Given the description of an element on the screen output the (x, y) to click on. 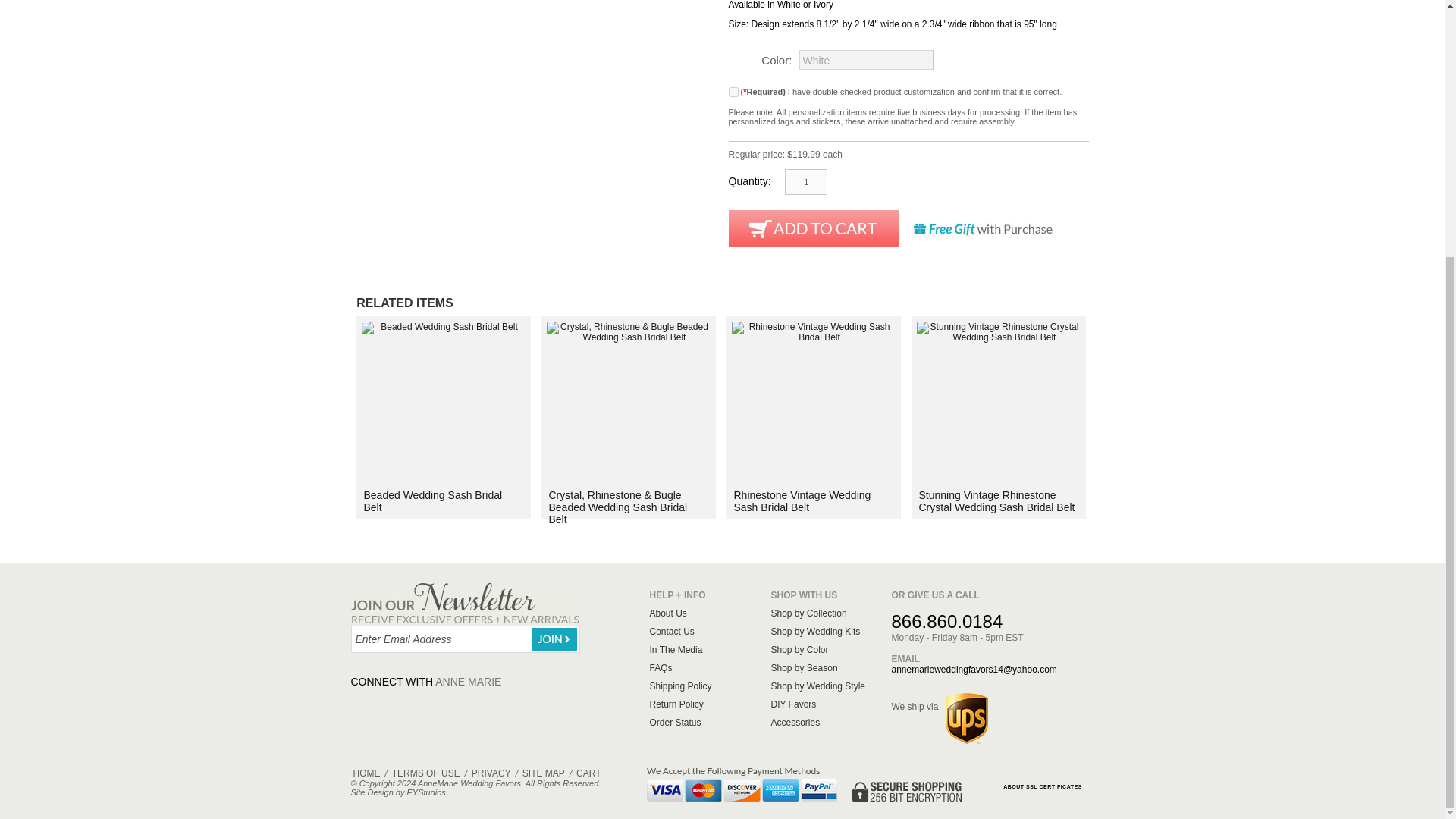
Facebook (369, 705)
Twitter (406, 705)
Enter Email Address (464, 638)
on (733, 91)
LInkedIn (442, 705)
blog (588, 705)
1 (805, 181)
Pinterest (515, 705)
instagram (551, 705)
